Given the description of an element on the screen output the (x, y) to click on. 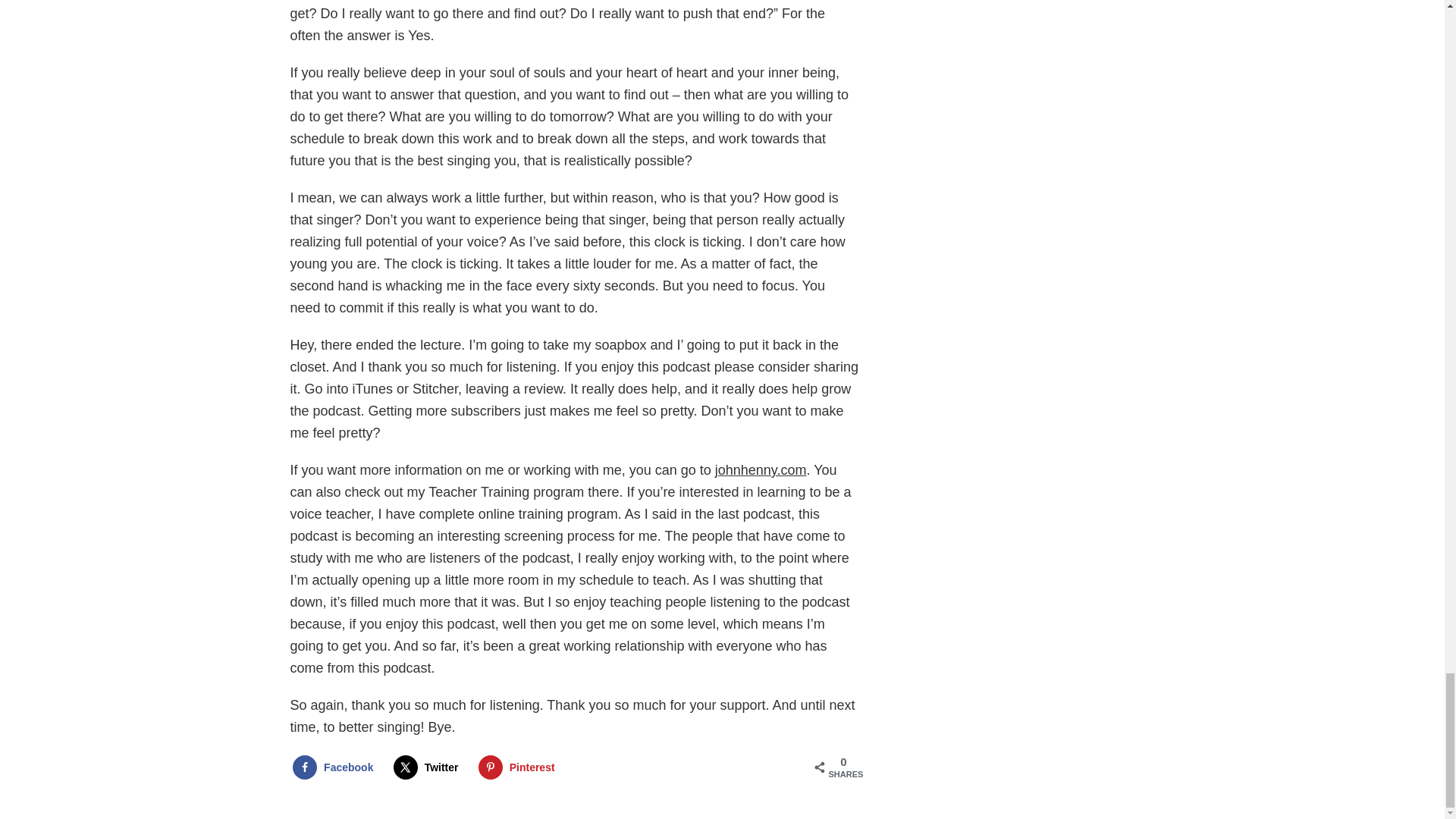
Twitter (429, 767)
Pinterest (520, 767)
Share on Facebook (336, 767)
Share on X (429, 767)
Save to Pinterest (520, 767)
Facebook (336, 767)
